Given the description of an element on the screen output the (x, y) to click on. 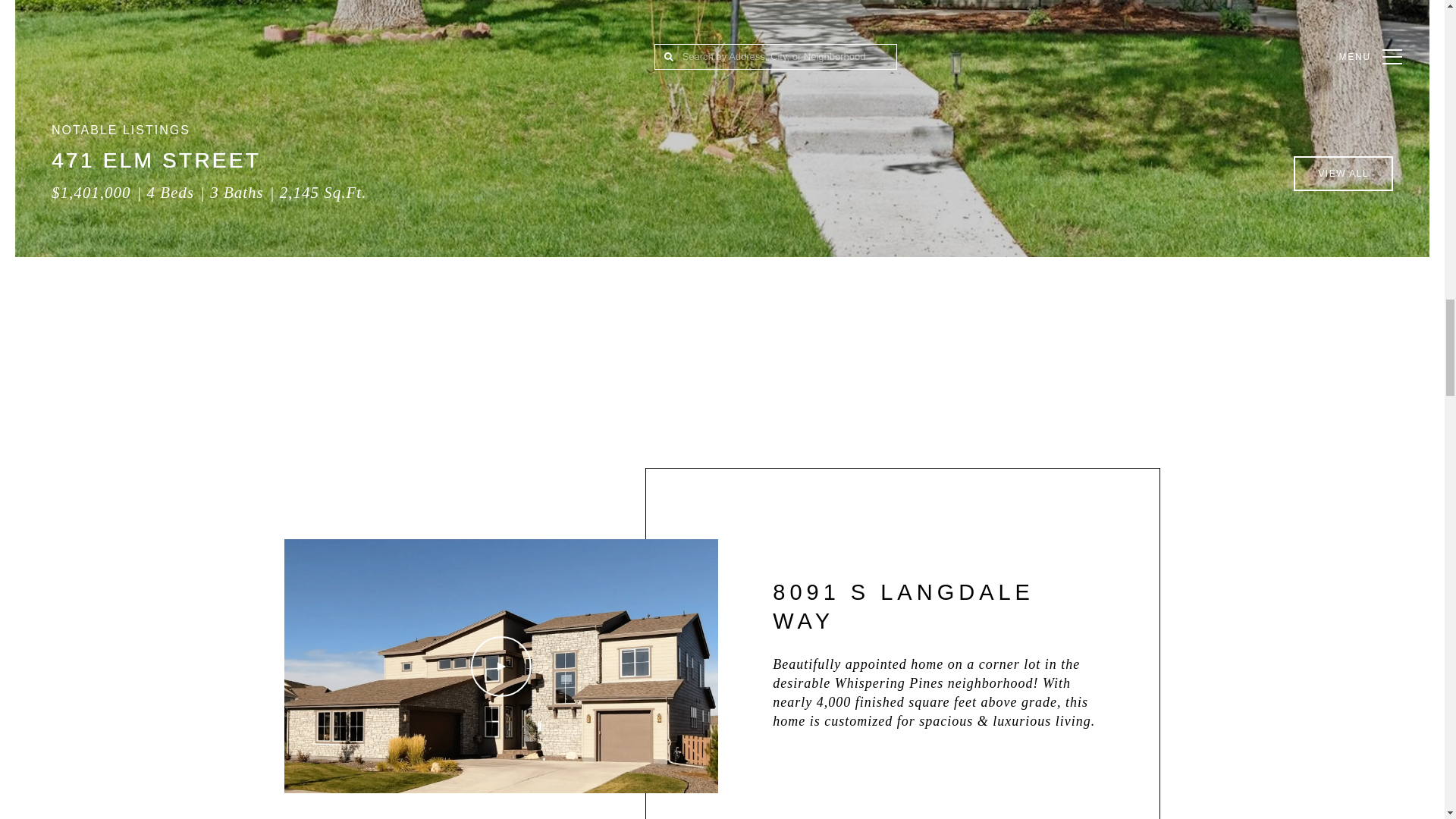
VIEW ALL (1343, 173)
